Given the description of an element on the screen output the (x, y) to click on. 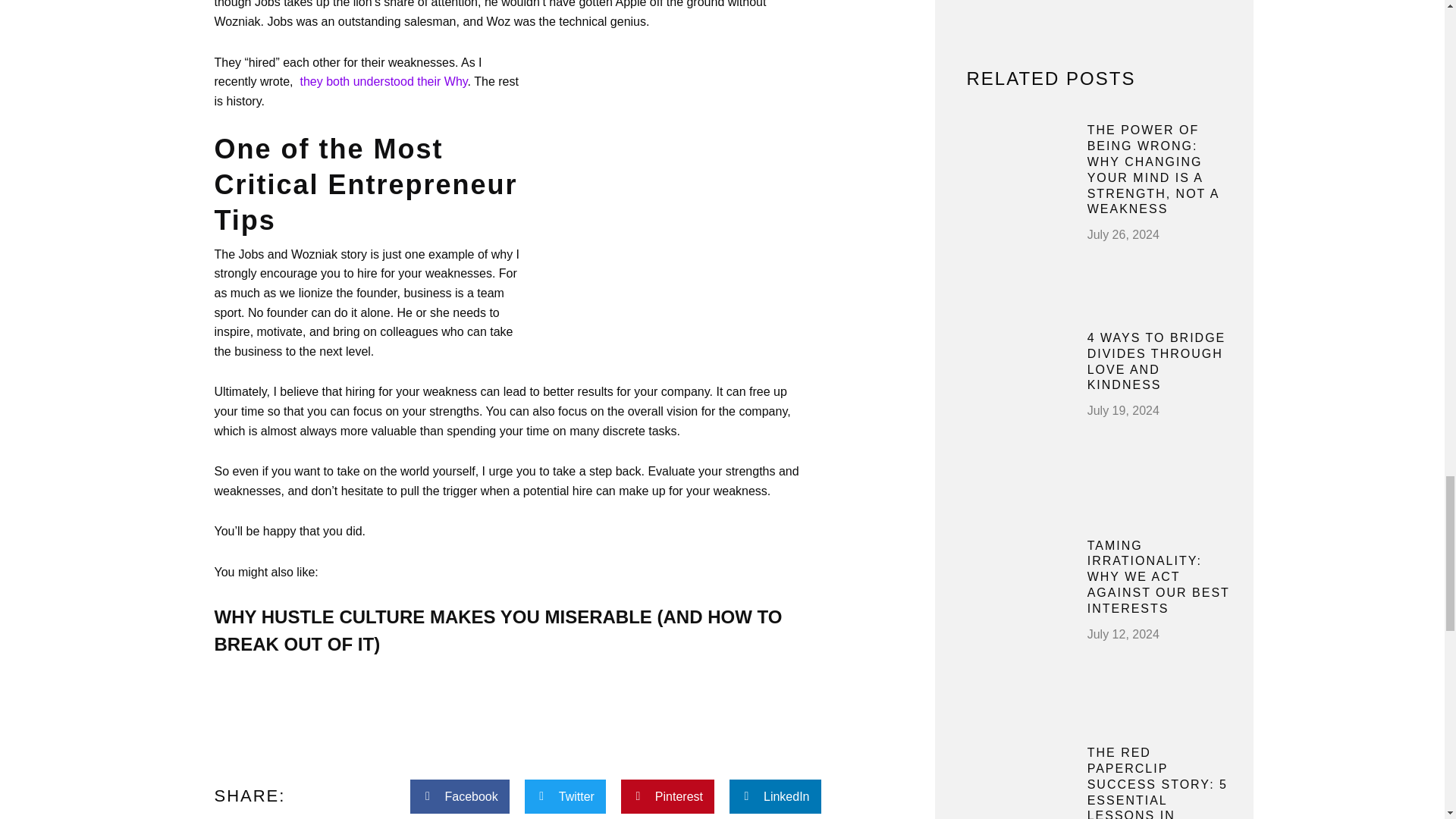
Why You Should Hire Your Weakness As Soon As You Can 2 (666, 198)
The Power of Why (383, 81)
they both understood their Why (383, 81)
